Given the description of an element on the screen output the (x, y) to click on. 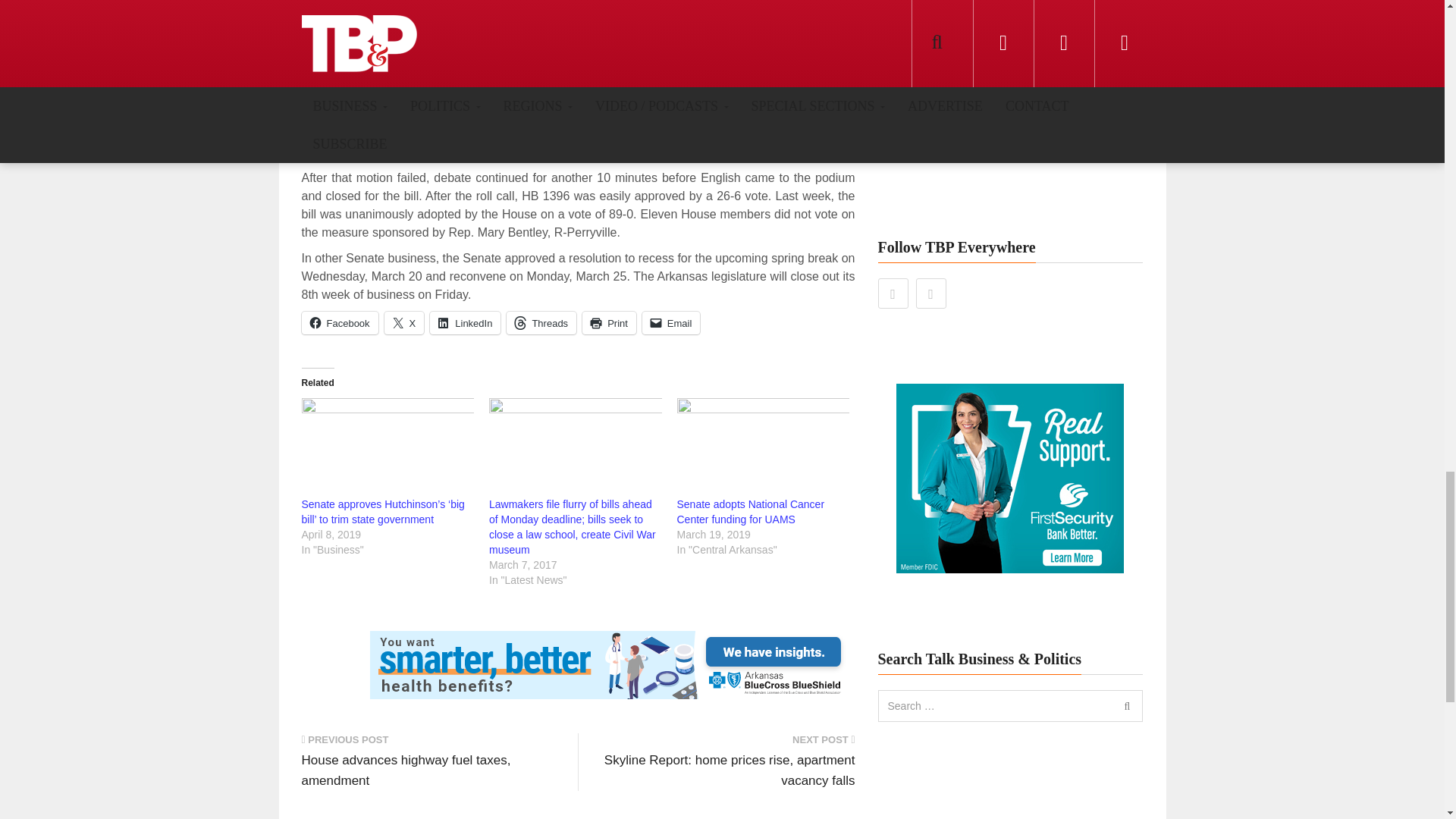
Click to share on LinkedIn (464, 323)
Click to share on Facebook (339, 323)
Click to share on X (404, 323)
